Given the description of an element on the screen output the (x, y) to click on. 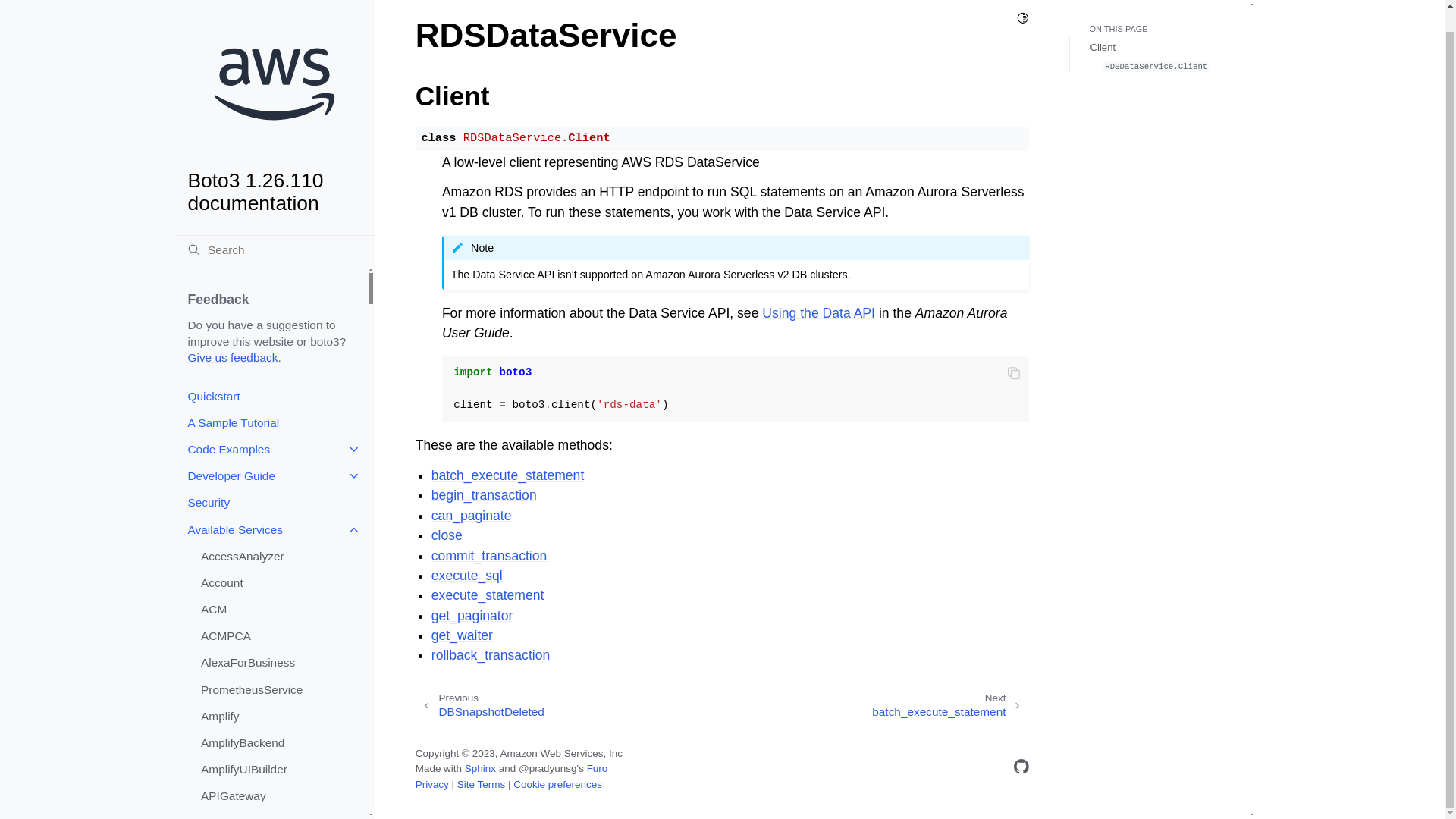
A Sample Tutorial (270, 400)
Code Examples (270, 427)
Boto3 1.26.110 documentation (274, 103)
Quickstart (270, 374)
Give us feedback (232, 335)
